Given the description of an element on the screen output the (x, y) to click on. 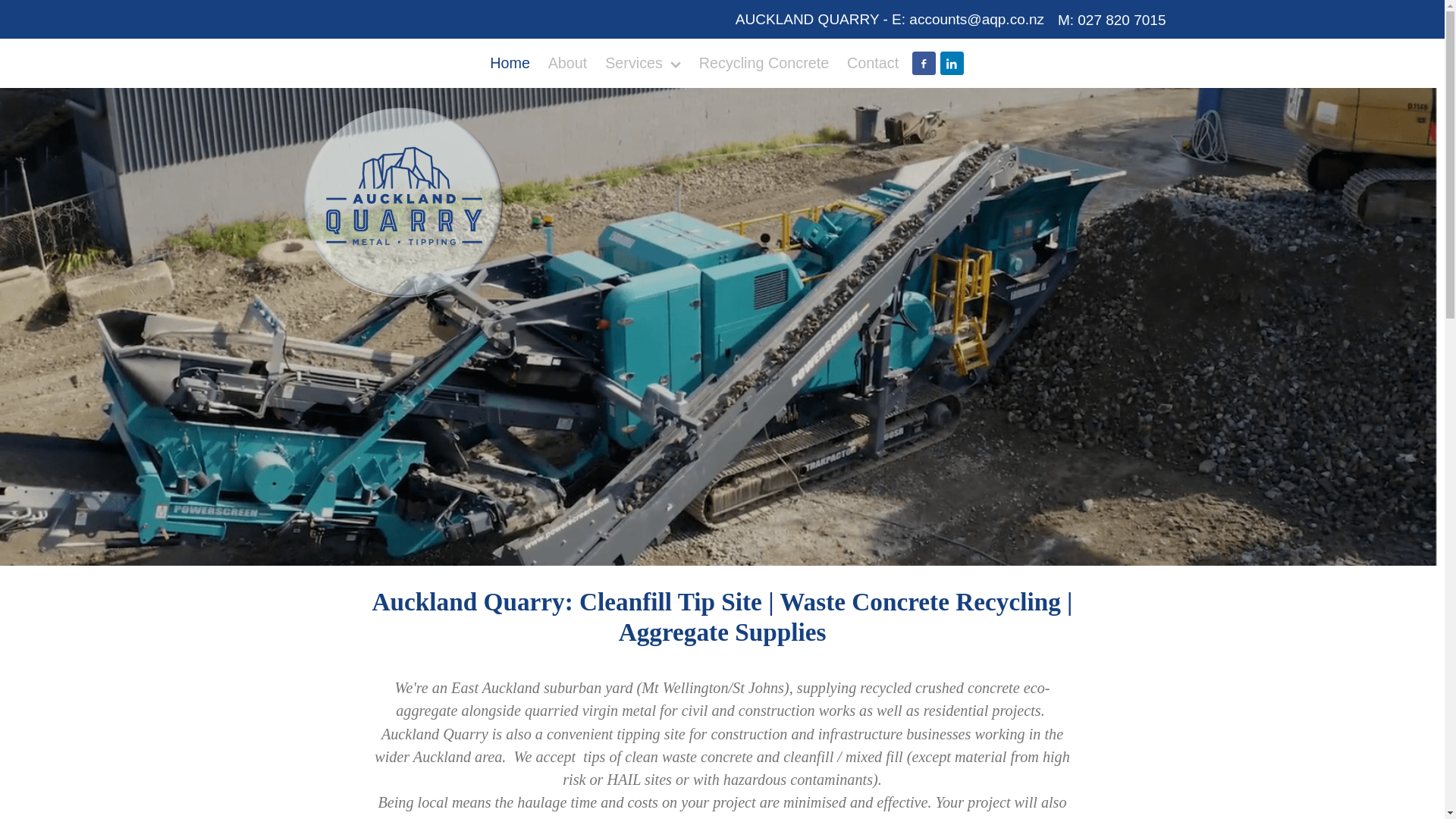
Contact (872, 63)
A link to this website's Facebook. (924, 63)
A link to this website's LinkedIn. (951, 63)
Home (509, 63)
Recycling Concrete (764, 63)
About (566, 63)
Services (642, 63)
